Given the description of an element on the screen output the (x, y) to click on. 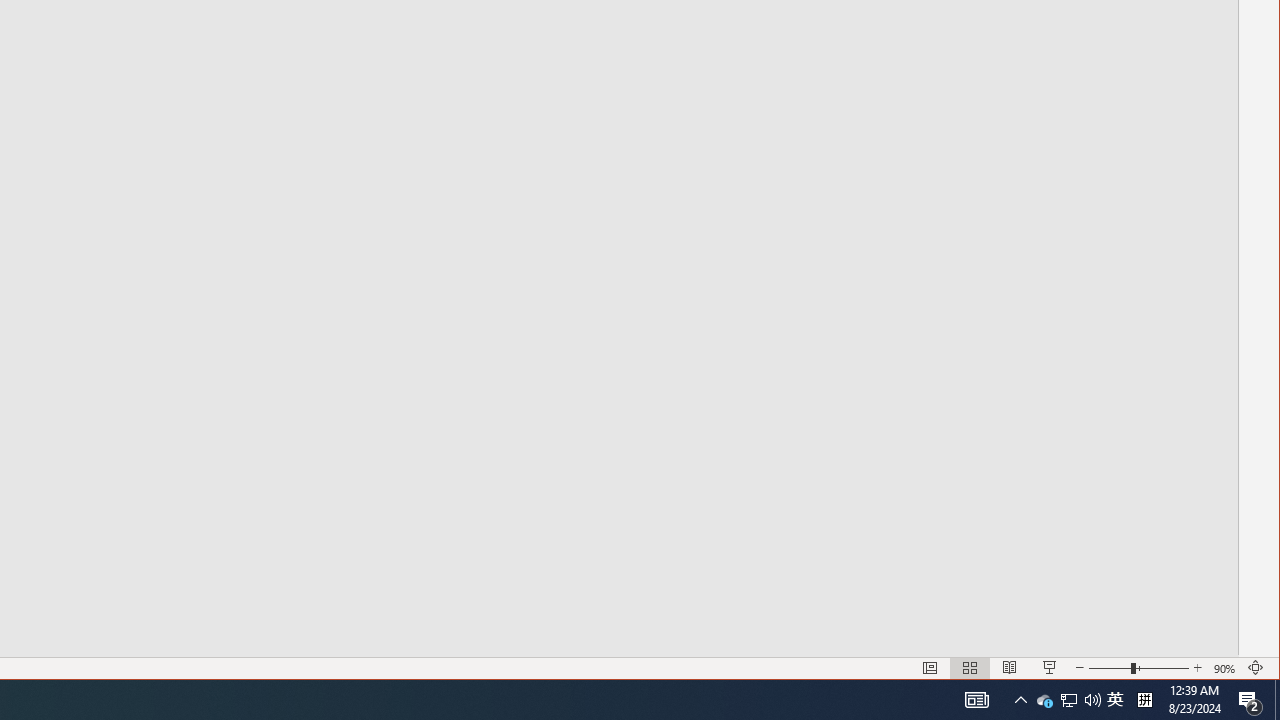
Zoom 90% (1225, 668)
